Given the description of an element on the screen output the (x, y) to click on. 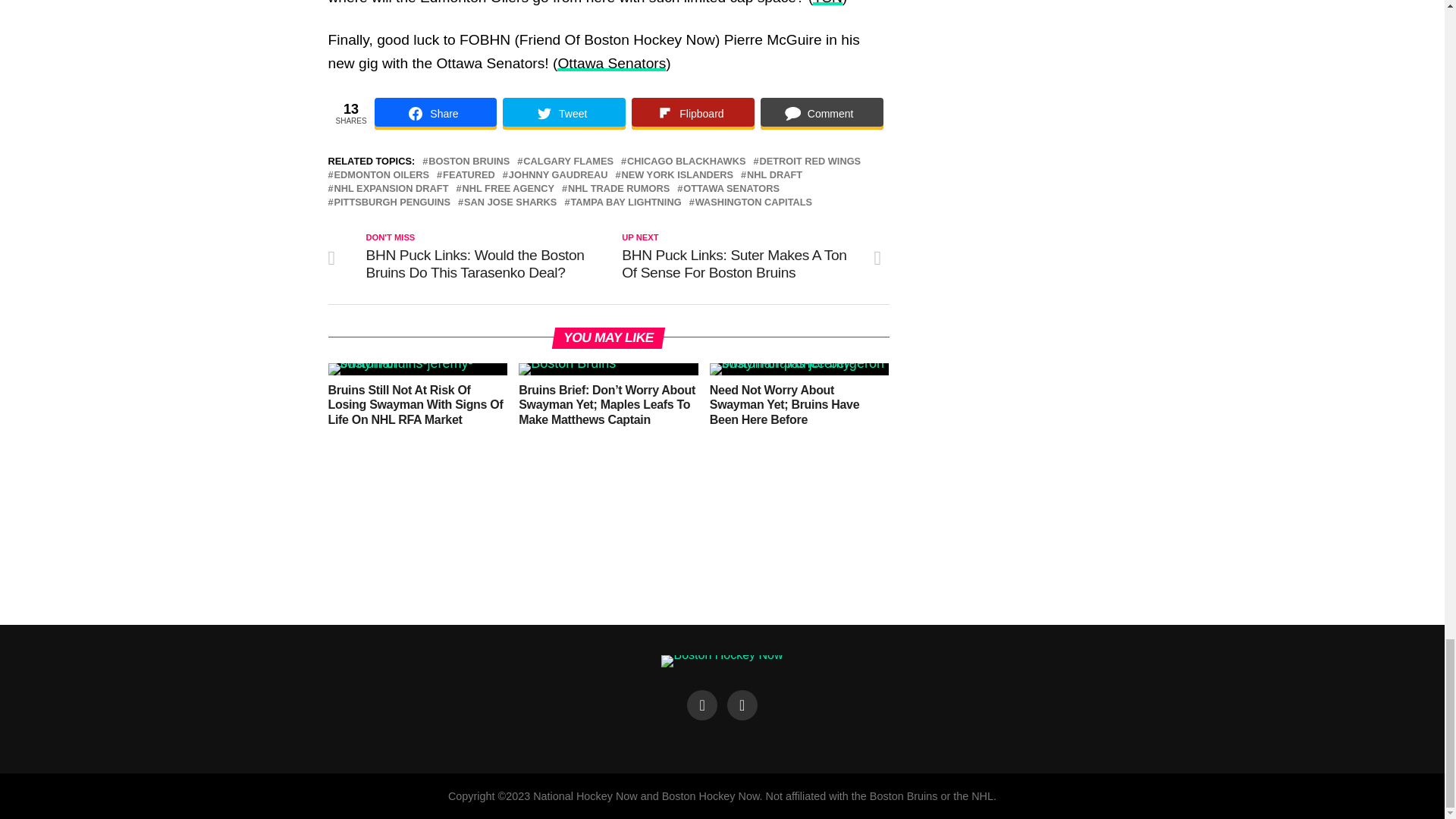
Share on Tweet (564, 113)
Share on Share (435, 113)
Share on Comment (821, 113)
Share on Flipboard (692, 113)
